Given the description of an element on the screen output the (x, y) to click on. 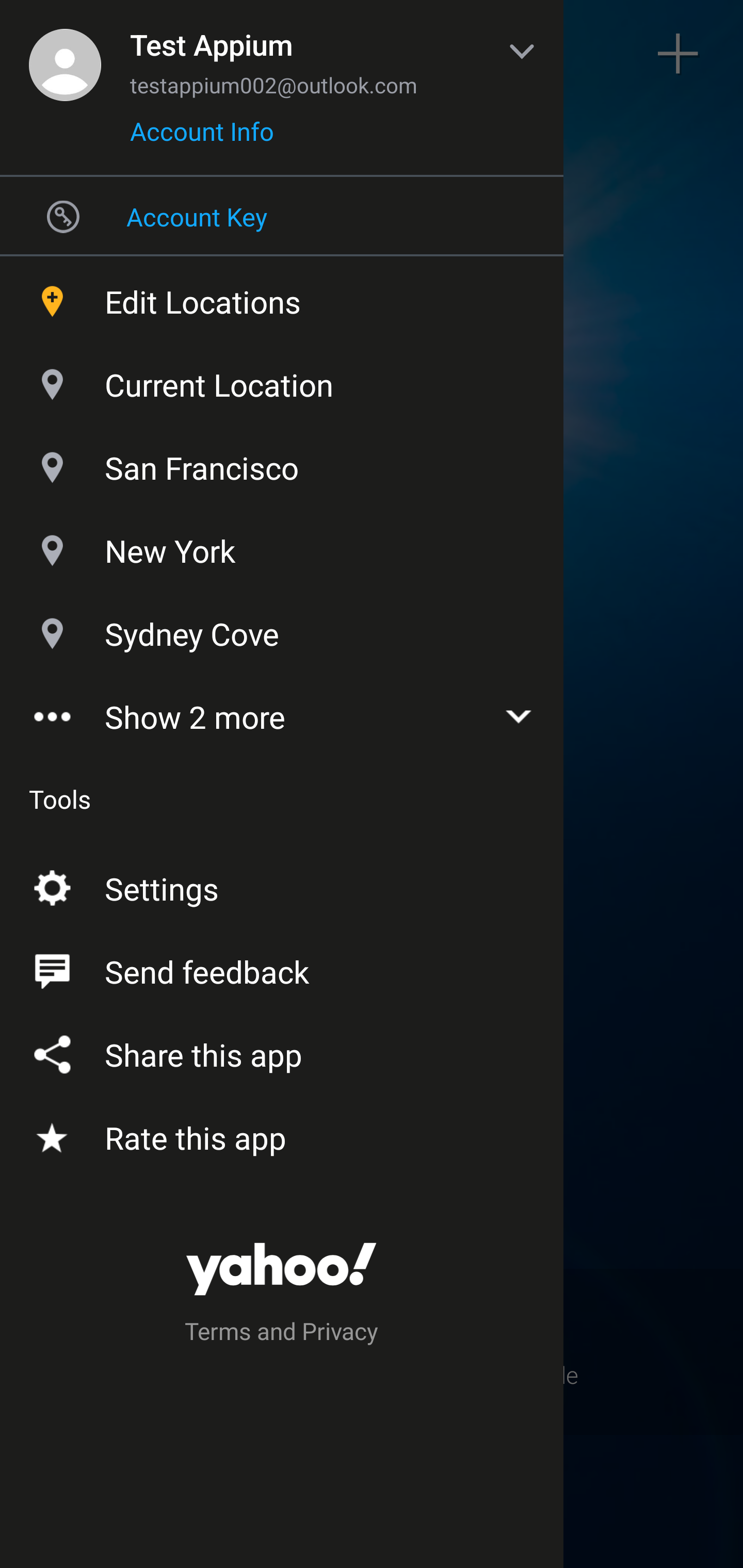
Sidebar (64, 54)
Account Info (202, 137)
Account Key (281, 216)
Edit Locations (281, 296)
Current Location (281, 379)
San Francisco (281, 462)
New York (281, 546)
Sydney Cove (281, 629)
Settings (281, 884)
Send feedback (281, 967)
Share this app (281, 1050)
Terms and Privacy Terms and privacy button (281, 1334)
